Given the description of an element on the screen output the (x, y) to click on. 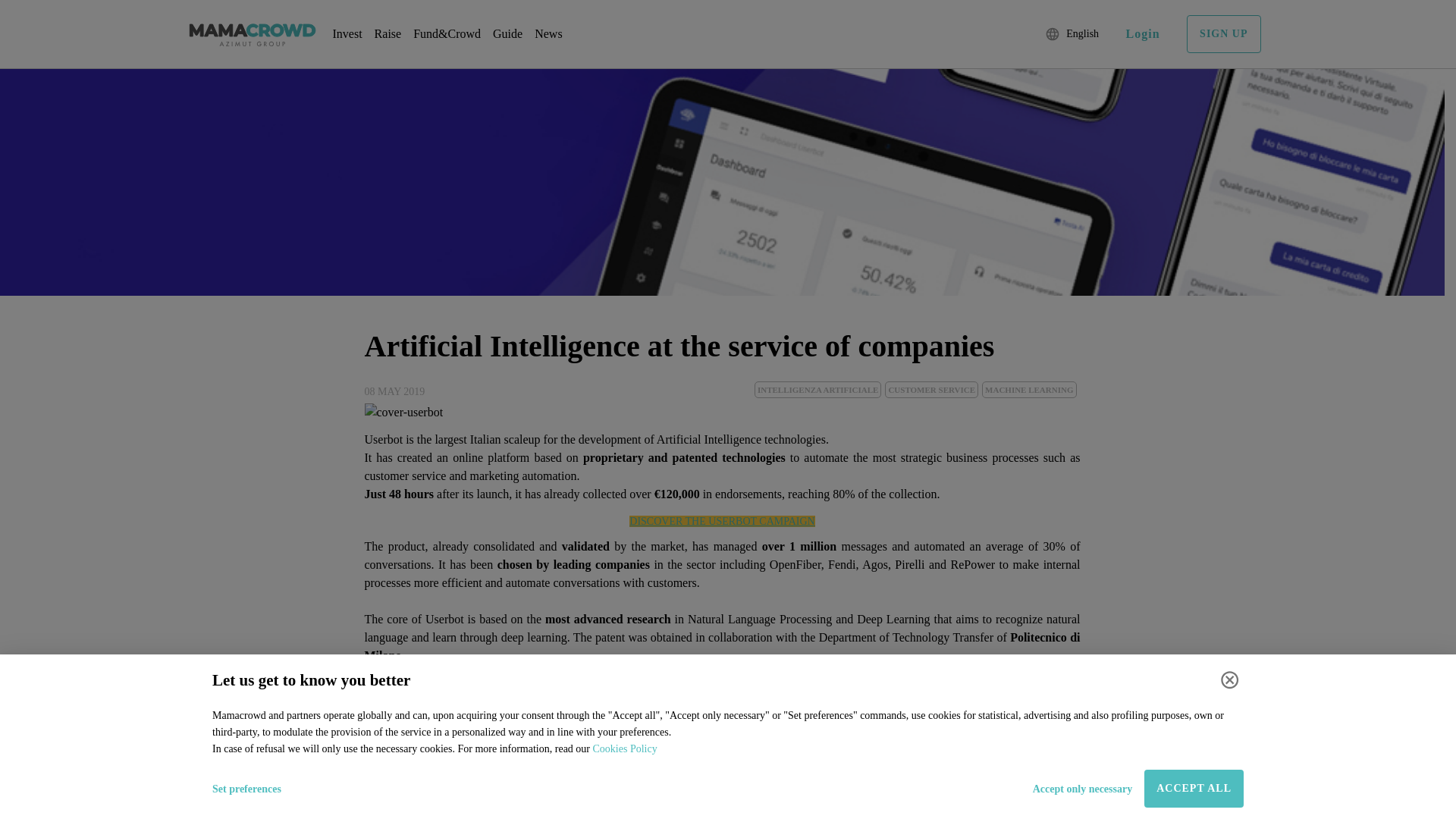
Raise (387, 33)
PARTICIPATE IN THE CAMPAIGN (722, 809)
cover-userbot (403, 412)
News (548, 33)
SIGN UP (1223, 34)
DISCOVER THE USERBOT CAMPAIGN (720, 521)
Invest (346, 33)
Login (1142, 34)
Guide (507, 33)
English (1073, 34)
